Given the description of an element on the screen output the (x, y) to click on. 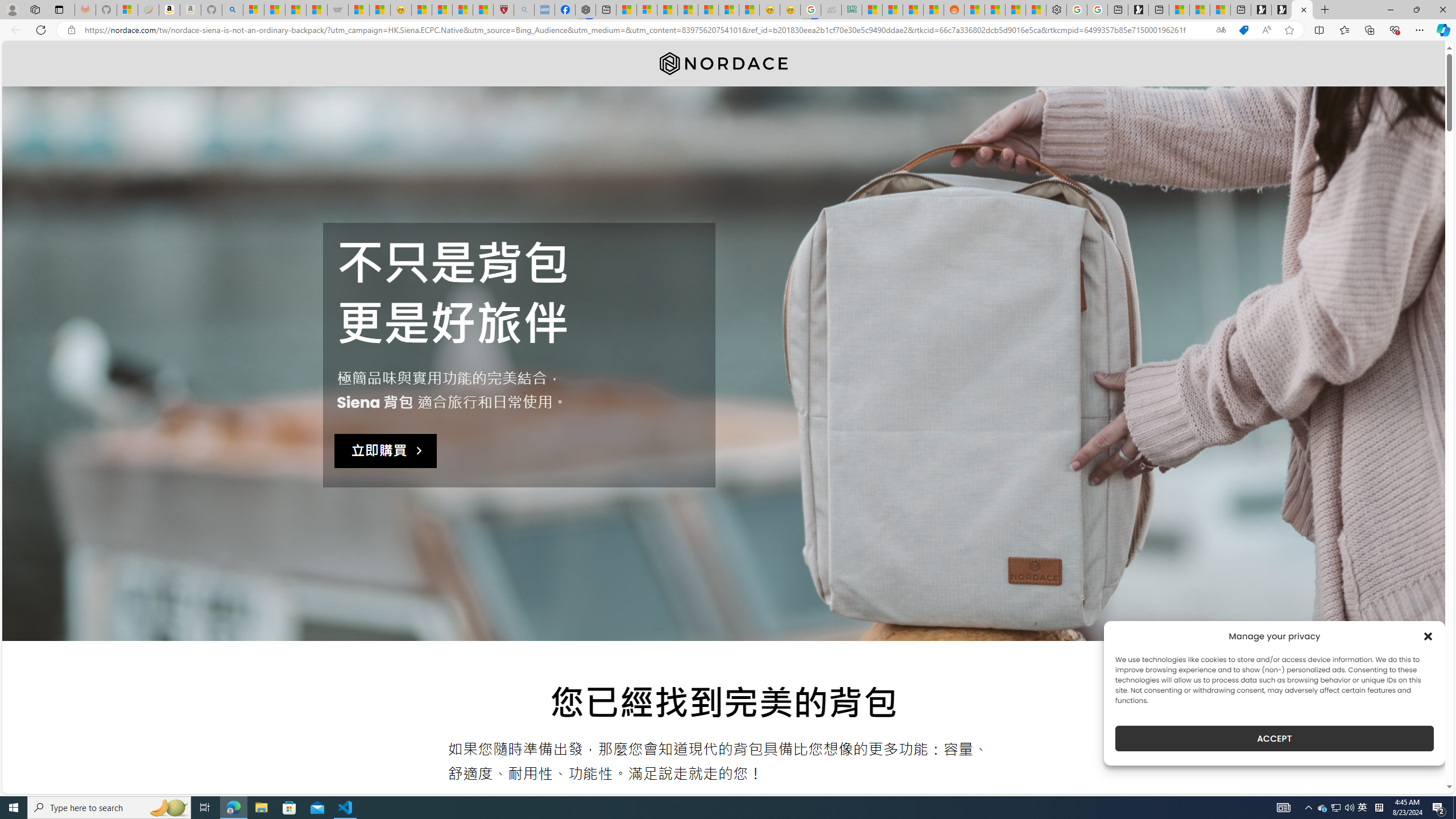
These 3 Stocks Pay You More Than 5% to Own Them (1219, 9)
